Given the description of an element on the screen output the (x, y) to click on. 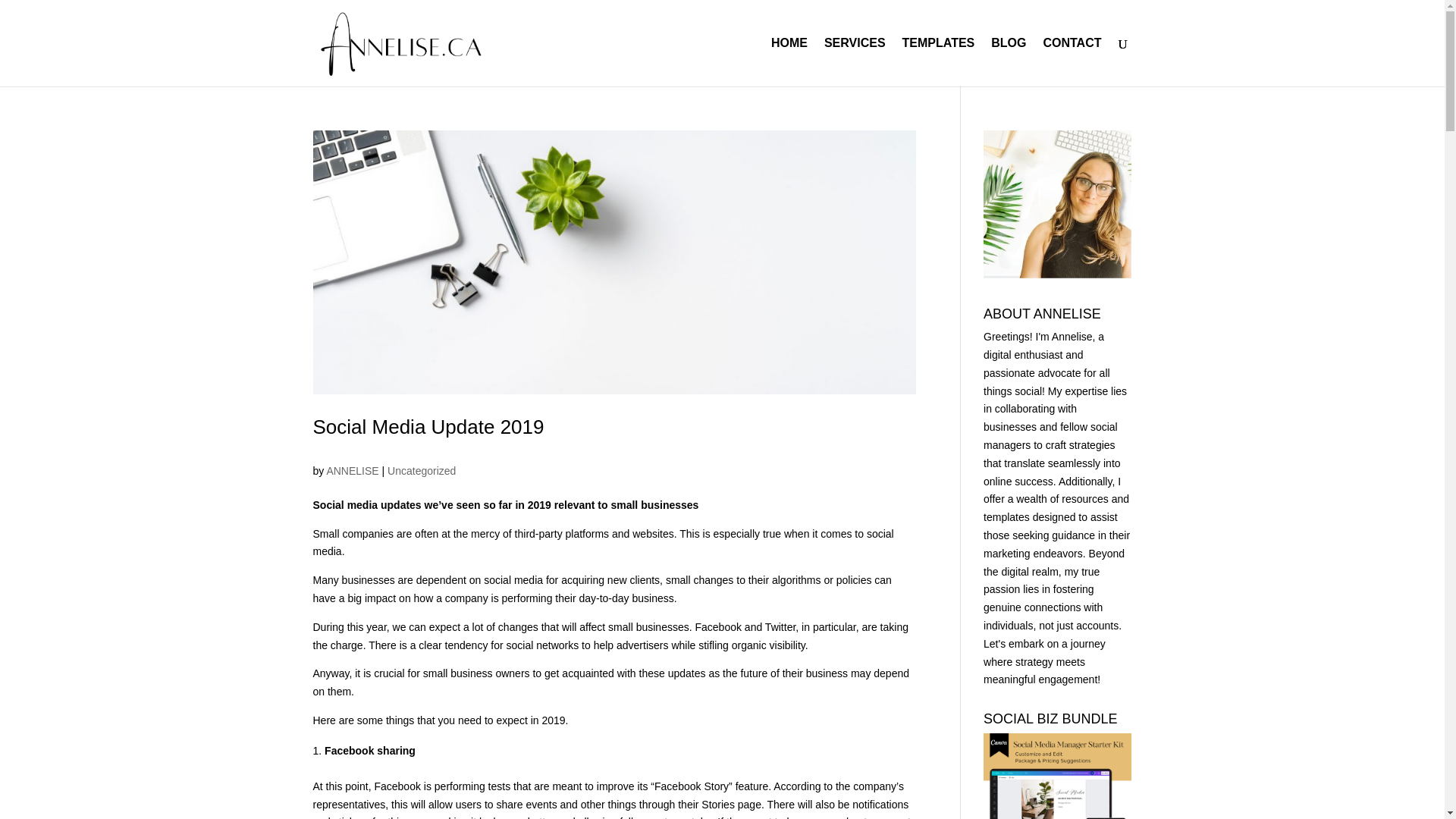
Social Media Update 2019 (428, 426)
Uncategorized (421, 470)
CONTACT (1071, 61)
SERVICES (854, 61)
ANNELISE (352, 470)
Posts by ANNELISE (352, 470)
while stifling organic visibility (738, 645)
TEMPLATES (938, 61)
